Given the description of an element on the screen output the (x, y) to click on. 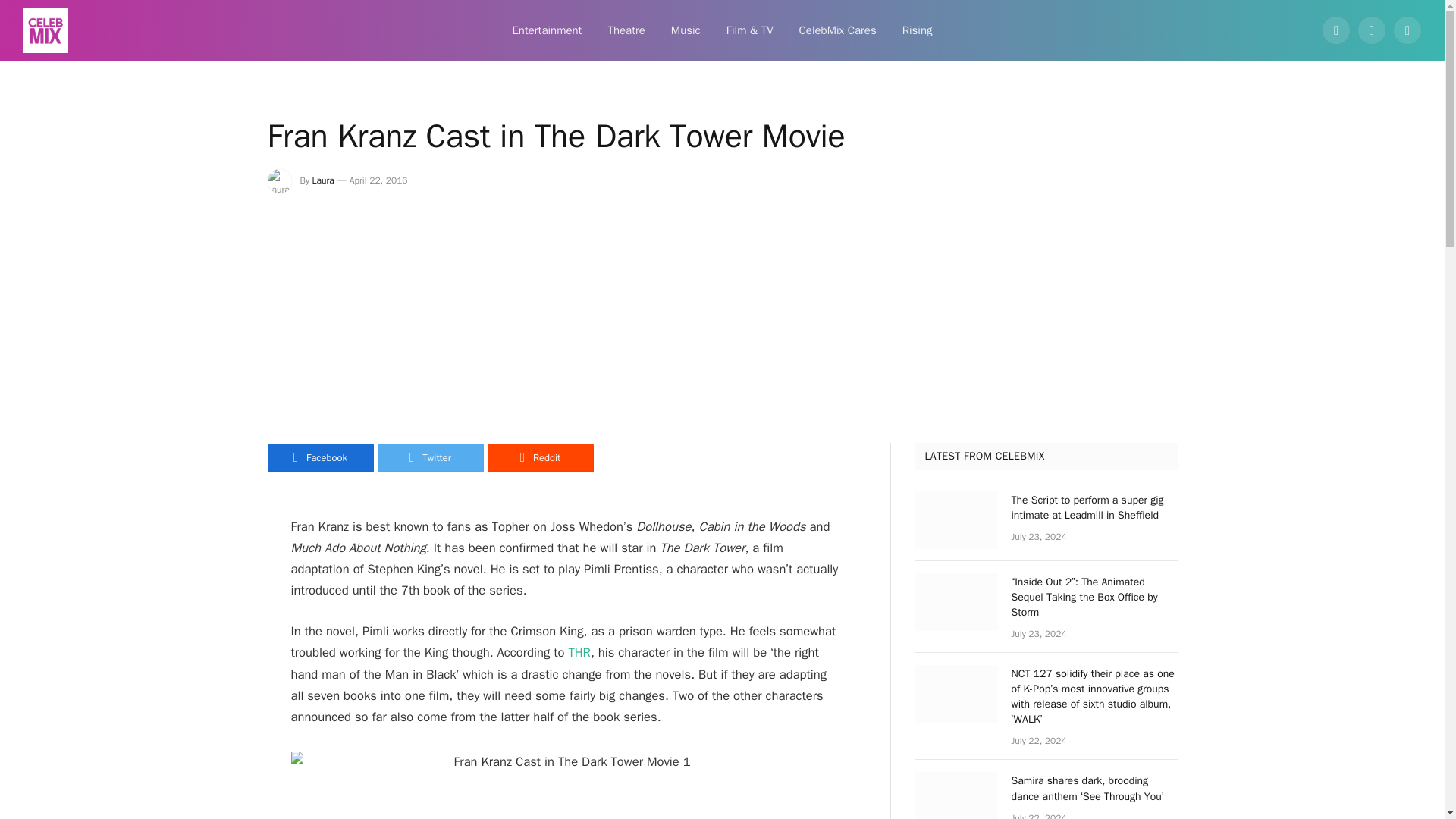
Twitter (430, 457)
Facebook (1336, 30)
Laura (323, 180)
Share on Reddit (539, 457)
Theatre (626, 30)
Instagram (1407, 30)
CelebMix (45, 30)
Facebook (319, 457)
Entertainment (546, 30)
CelebMix Cares (837, 30)
Rising (916, 30)
Posts by Laura (323, 180)
Reddit (539, 457)
THR (576, 652)
Music (685, 30)
